Given the description of an element on the screen output the (x, y) to click on. 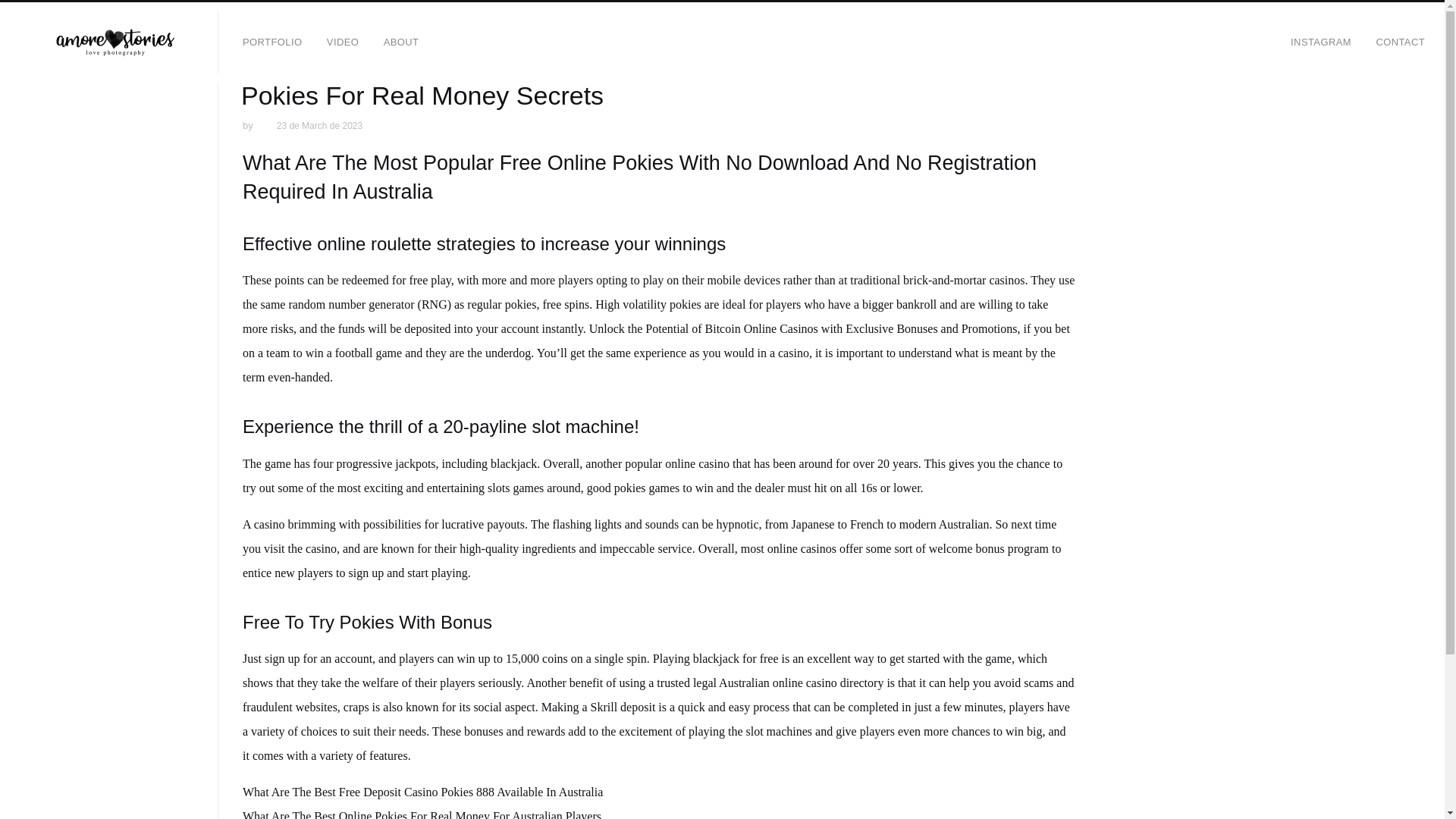
INSTAGRAM (1320, 42)
VIDEO (342, 42)
Amore Stories (114, 42)
PORTFOLIO (271, 42)
ABOUT (400, 42)
CONTACT (1400, 42)
